Given the description of an element on the screen output the (x, y) to click on. 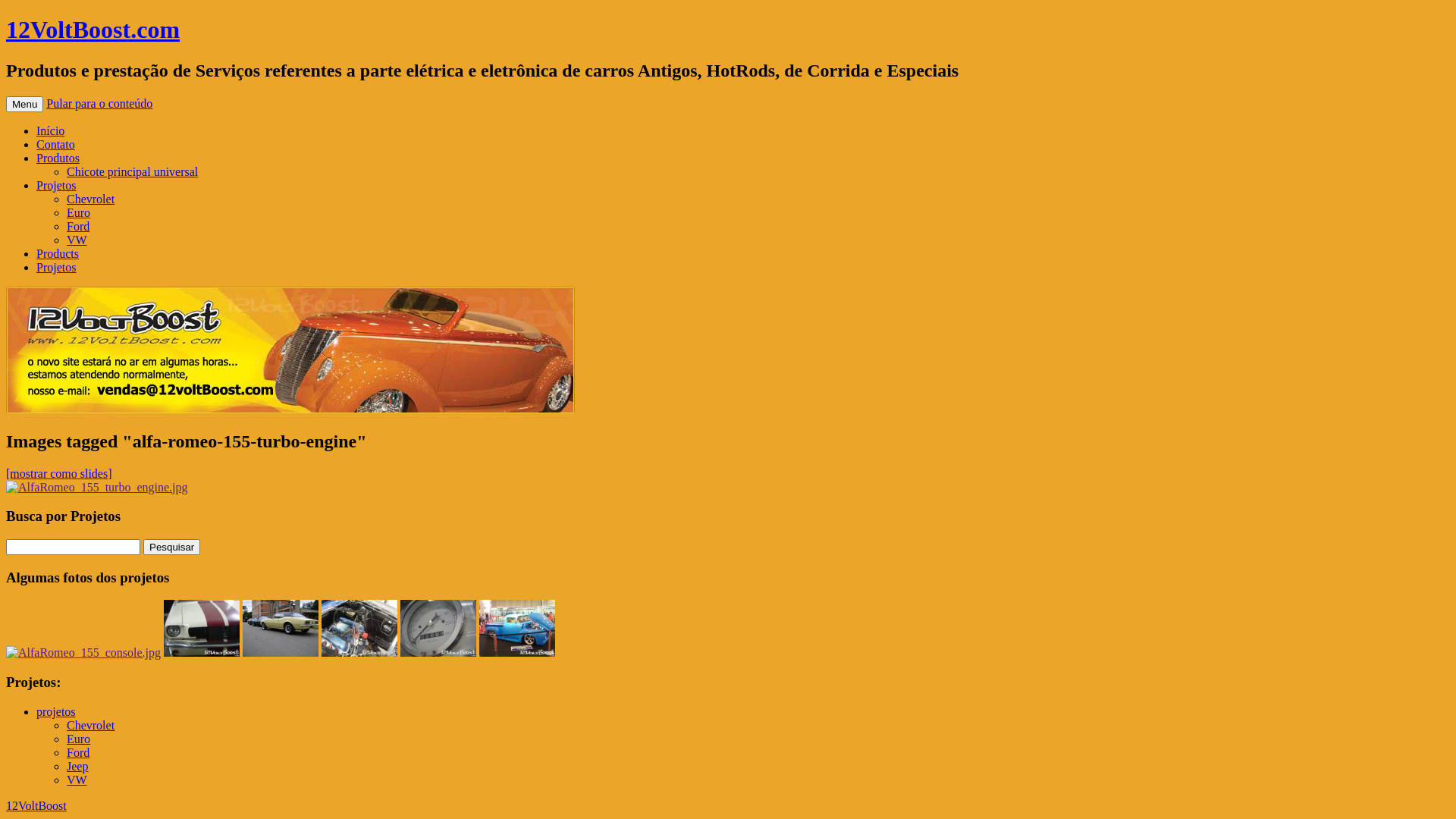
VW Element type: text (76, 239)
AlfaRomeo_155_console.jpg Element type: hover (83, 652)
Ford_Truck_F100_XtremeMotorSports_2006_c.jpg Element type: hover (517, 627)
Projetos Element type: text (55, 184)
Ford Element type: text (77, 752)
Menu Element type: text (24, 104)
  Element type: hover (438, 652)
12VoltBoost.com Element type: text (92, 29)
projetos Element type: text (55, 711)
Euro Element type: text (78, 212)
Products Element type: text (57, 253)
Pesquisar Element type: text (171, 547)
[mostrar como slides] Element type: text (59, 473)
Ford Element type: text (77, 225)
Chevrolet Element type: text (90, 198)
VW Element type: text (76, 779)
Ford_Mustang_1st_Generation_Blue_13.jpg Element type: hover (359, 627)
Ford_Mustang_66_HardTop_Burgundy_Stripes_Icon.jpg Element type: hover (201, 627)
Chicote principal universal Element type: text (131, 171)
12VoltBoost Element type: text (36, 805)
chevy_camaro_67_butternut_yellow_DSC00652.jpg Element type: hover (280, 627)
Produtos Element type: text (57, 157)
  Element type: hover (83, 652)
Projetos Element type: text (55, 266)
Chevrolet Element type: text (90, 724)
  Element type: hover (359, 652)
  Element type: hover (280, 652)
Jeep Element type: text (76, 765)
Euro Element type: text (78, 738)
  Element type: hover (517, 652)
Ford_Mustang_1st_Generation_Blue_19.jpg Element type: hover (438, 627)
AlfaRomeo_155_turbo_engine.jpg Element type: hover (97, 487)
Contato Element type: text (55, 144)
  Element type: hover (201, 652)
